Given the description of an element on the screen output the (x, y) to click on. 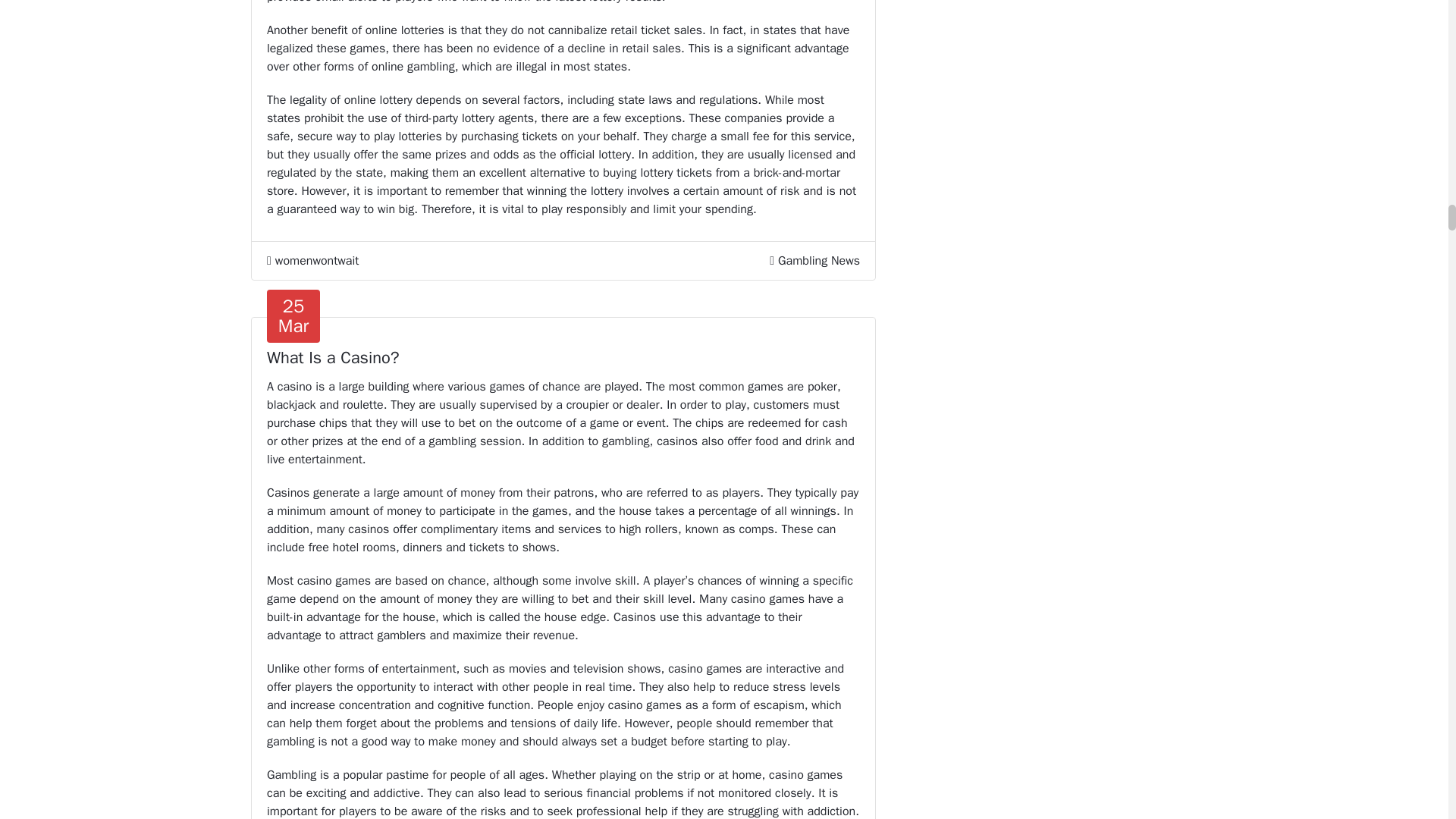
womenwontwait (312, 260)
